Given the description of an element on the screen output the (x, y) to click on. 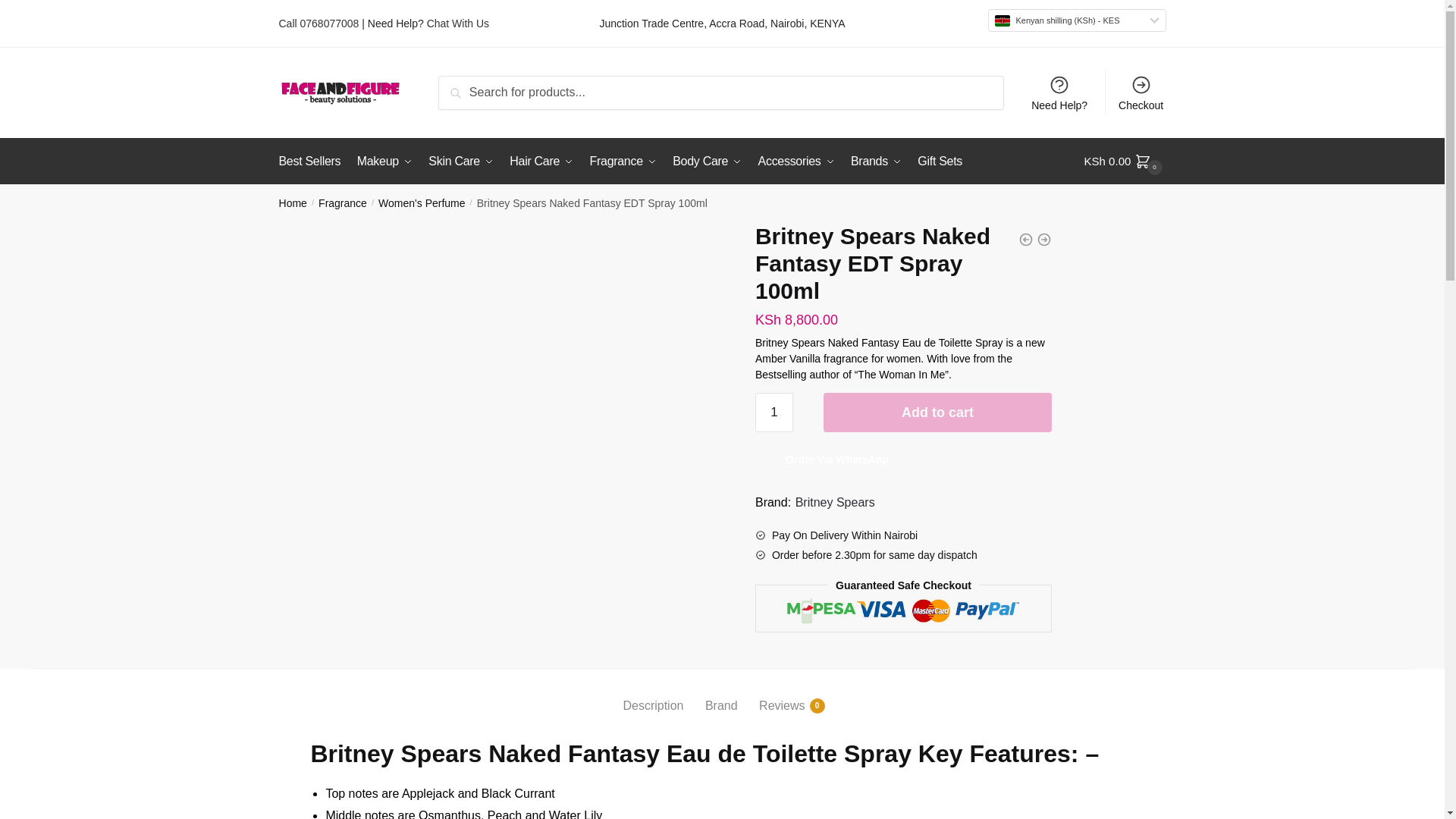
Search (475, 93)
1 (774, 412)
Call 0768077008 (319, 23)
Makeup (384, 161)
Best Sellers (313, 161)
Chat With Us (457, 23)
Need Help? (1059, 92)
View your shopping cart (1125, 161)
View brand (834, 502)
Checkout (1141, 92)
